Given the description of an element on the screen output the (x, y) to click on. 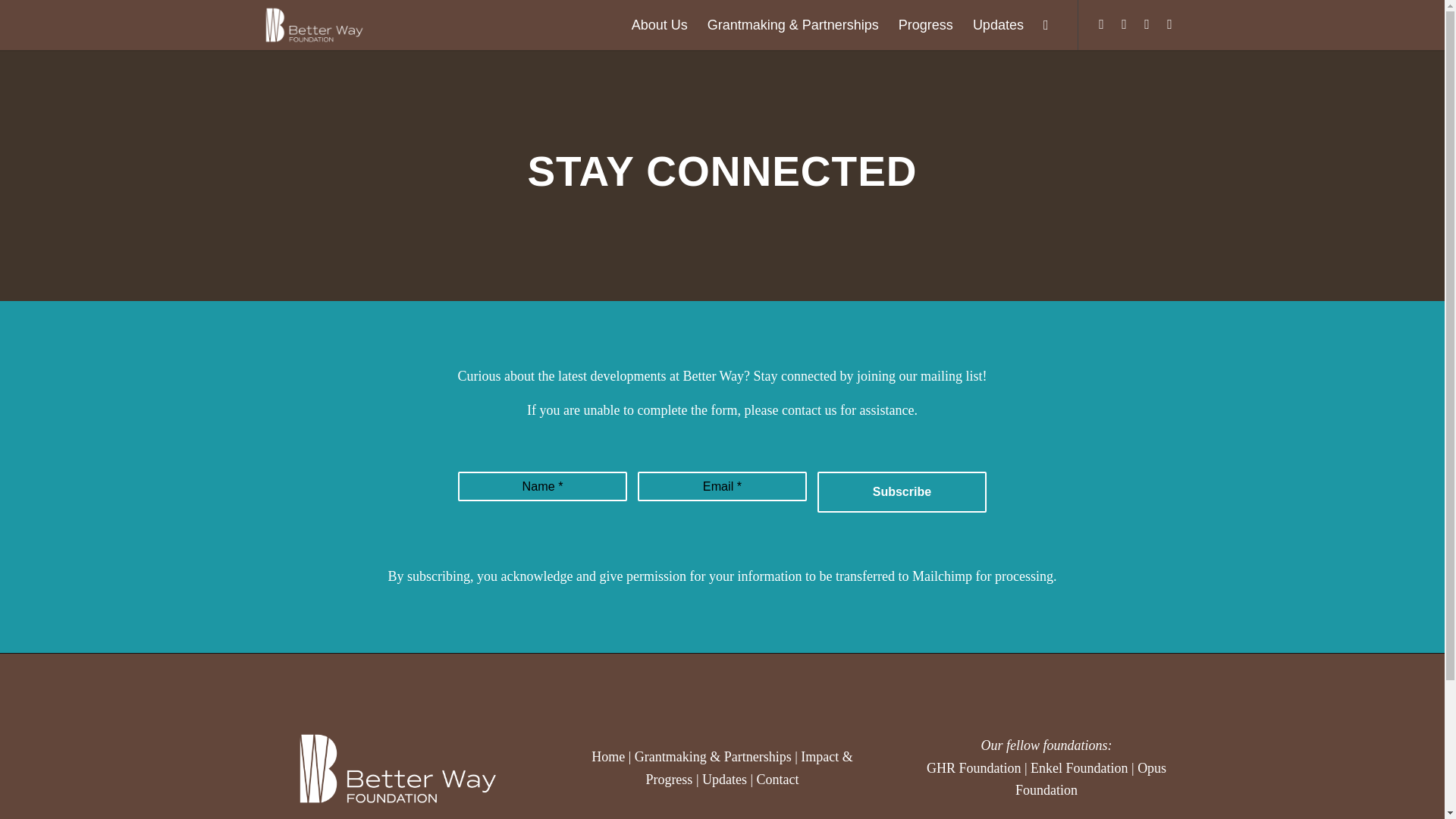
About Us (659, 24)
LinkedIn (1146, 24)
Progress (925, 24)
Opus Foundation (1090, 779)
Updates (723, 779)
contact us (808, 409)
Enkel Foundation (1079, 767)
Instagram (1101, 24)
Updates (997, 24)
Facebook (1124, 24)
